Given the description of an element on the screen output the (x, y) to click on. 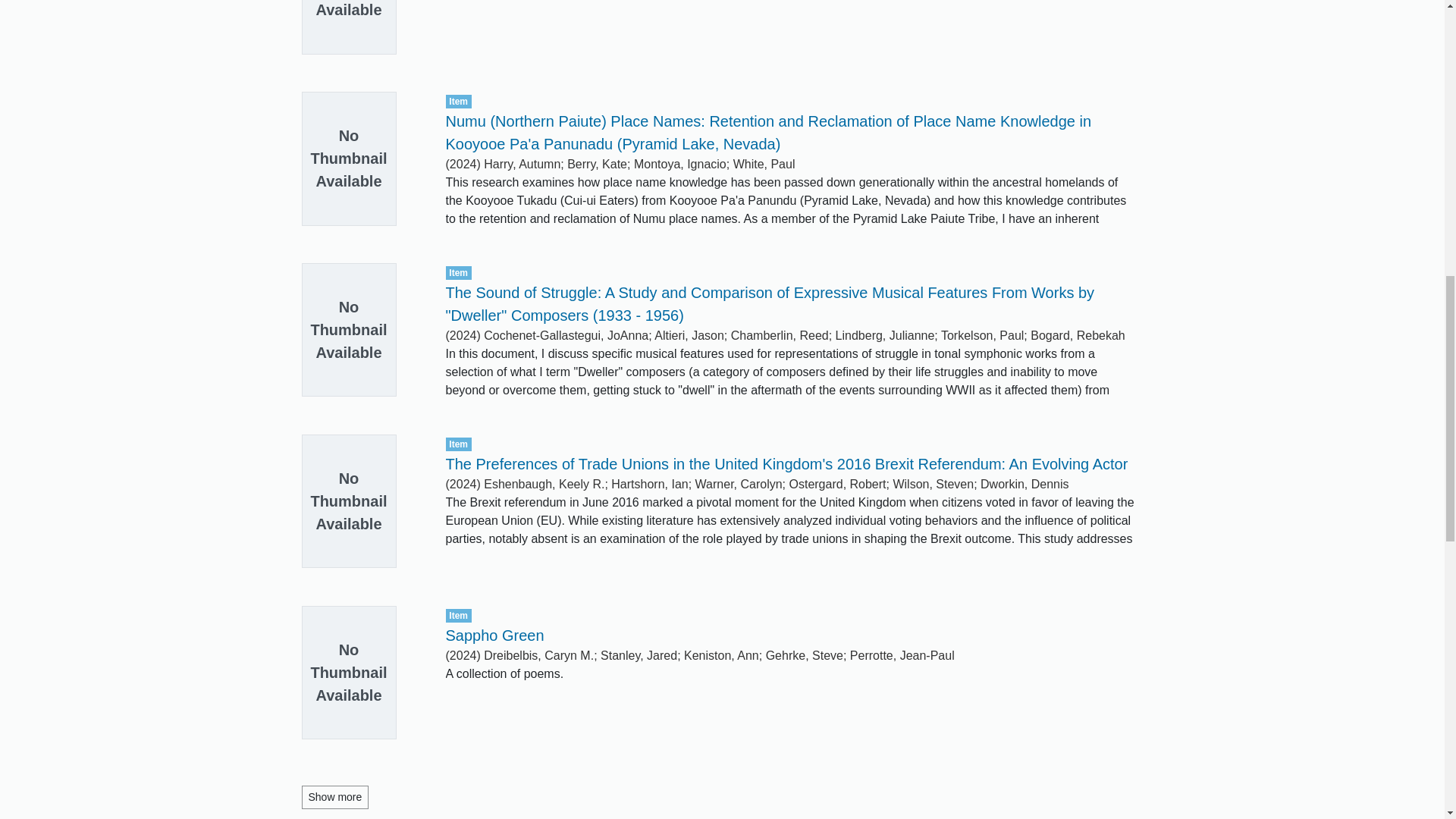
Show more (335, 797)
Sappho Green (494, 635)
No Thumbnail Available (362, 37)
